Given the description of an element on the screen output the (x, y) to click on. 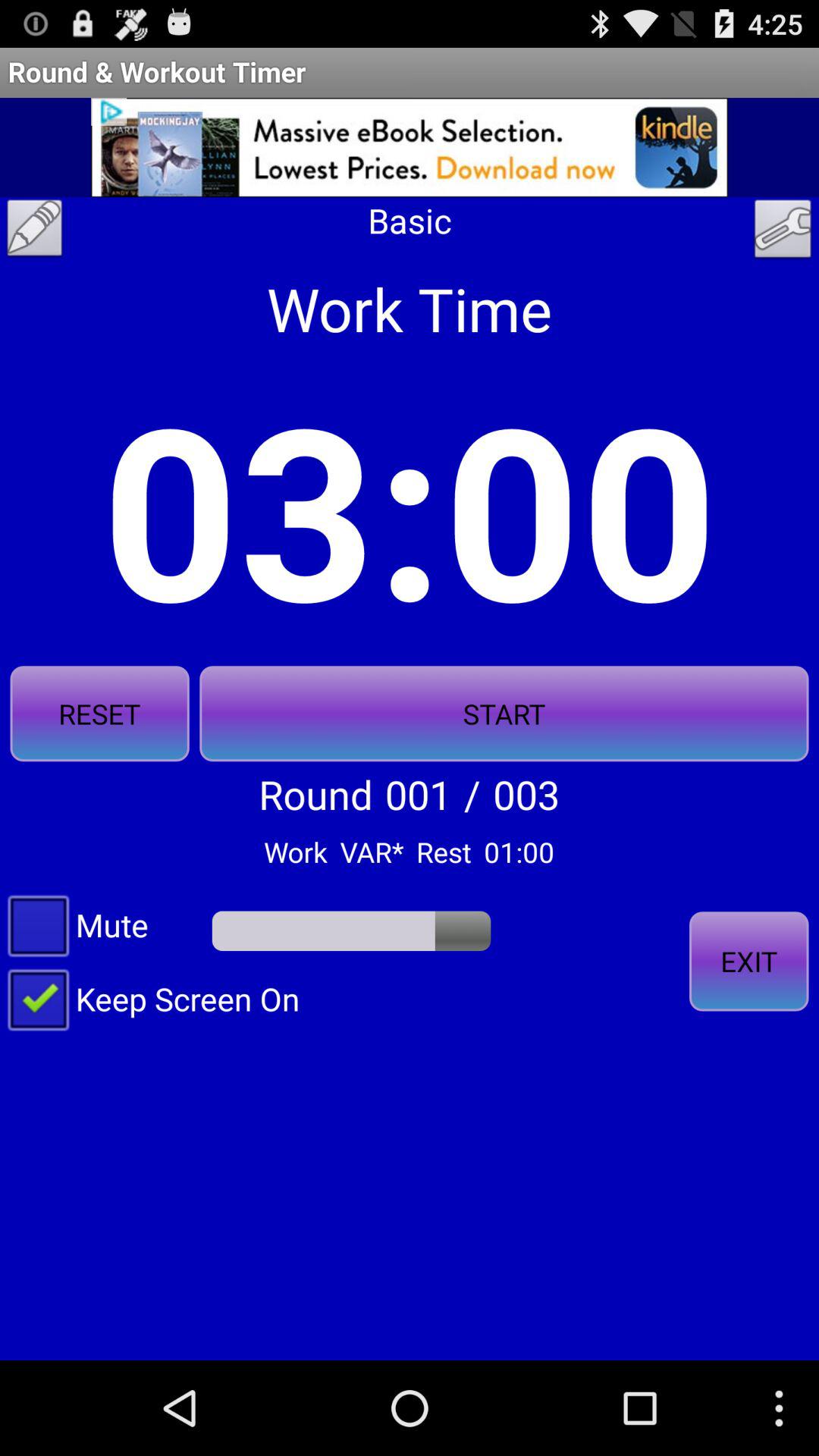
choose item at the bottom left corner (149, 998)
